Given the description of an element on the screen output the (x, y) to click on. 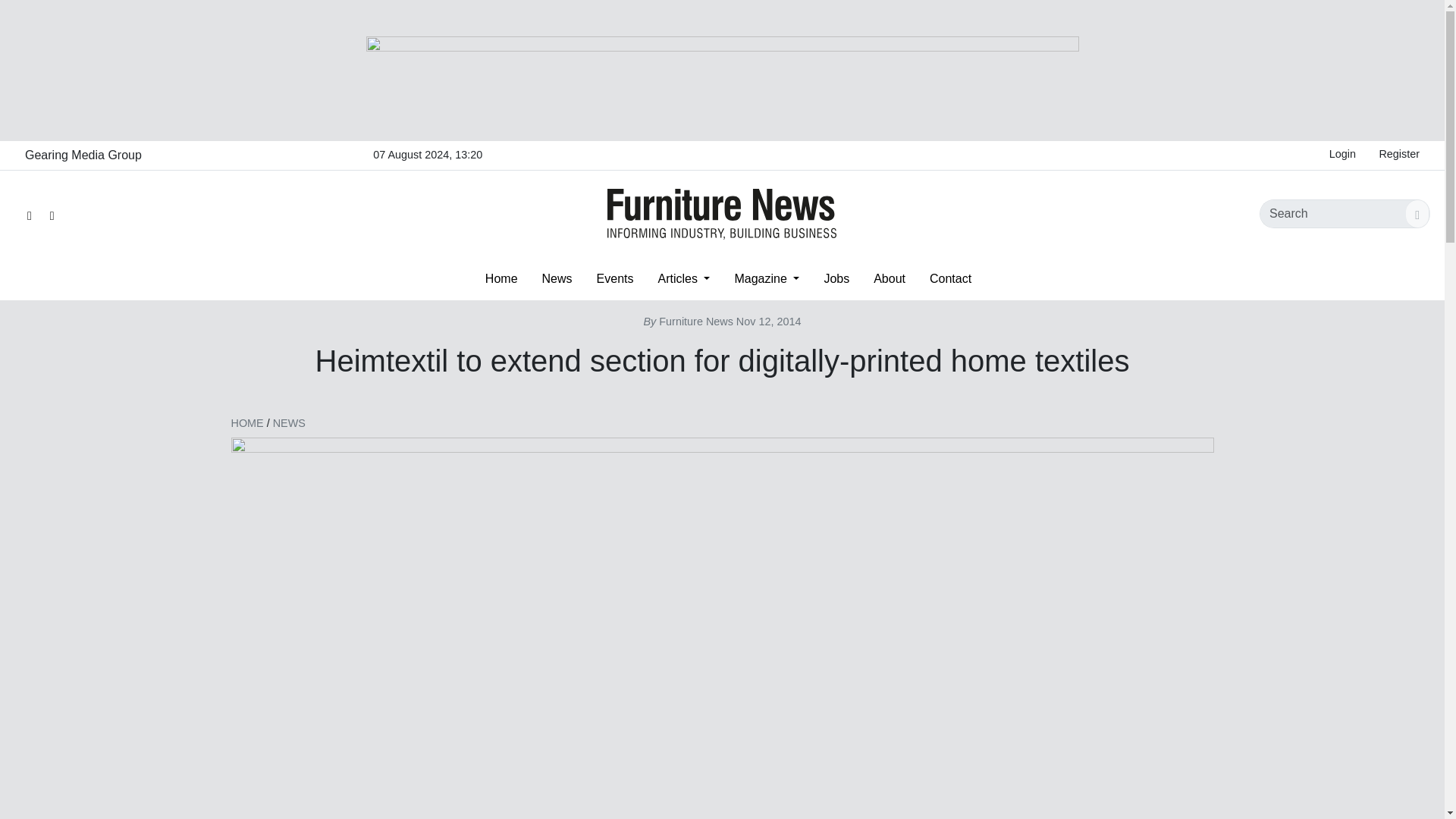
Magazine (766, 278)
Events (615, 278)
News (557, 278)
Login (1342, 154)
Jobs (835, 278)
Register (1398, 154)
Contact (950, 278)
Home (501, 278)
HOME (246, 422)
NEWS (289, 422)
